Given the description of an element on the screen output the (x, y) to click on. 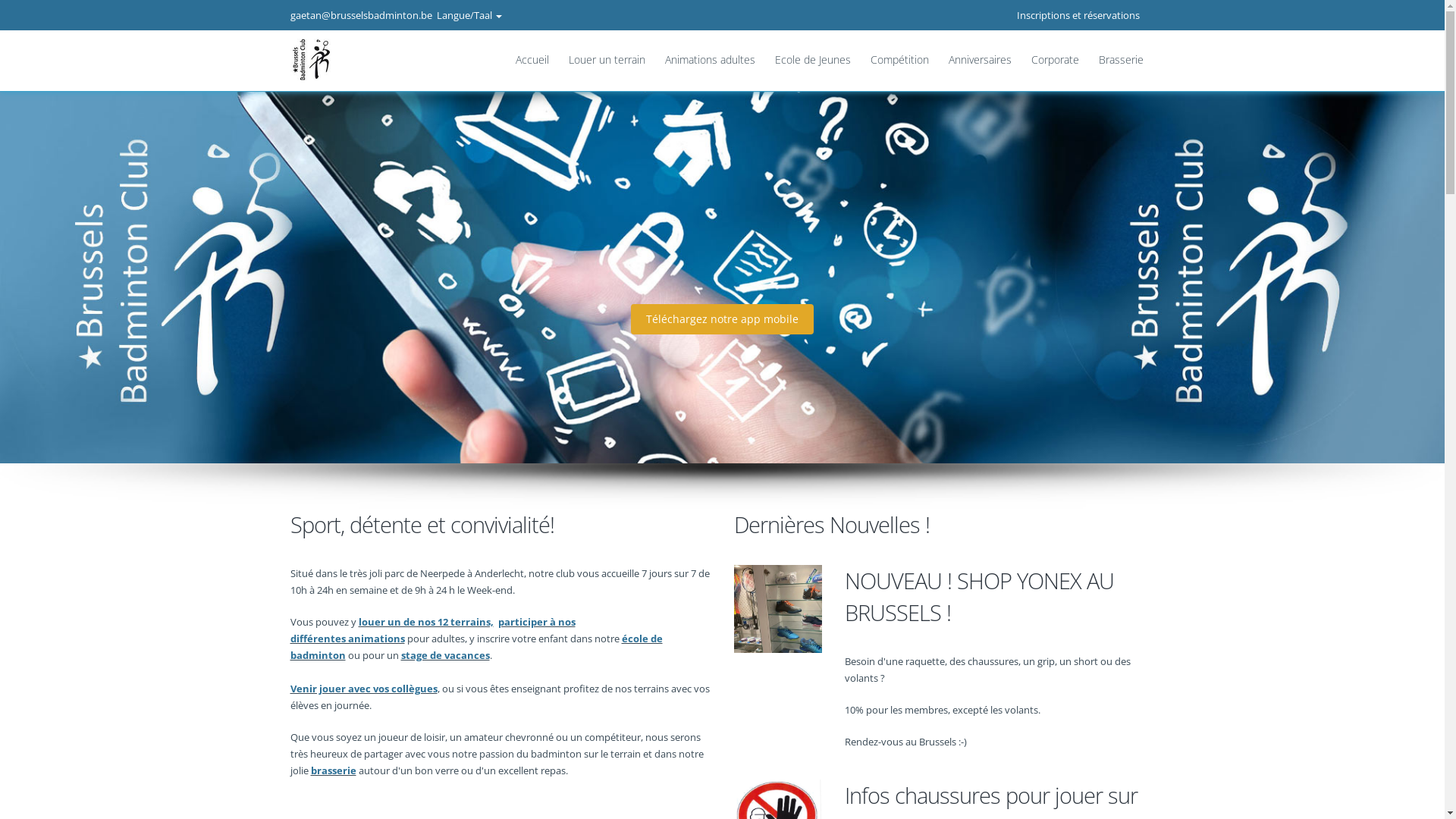
brasserie Element type: text (333, 770)
Corporate Element type: text (1054, 59)
louer un de nos 12 terrains, Element type: text (424, 621)
Anniversaires Element type: text (979, 59)
Brasserie Element type: text (1115, 59)
Accueil Element type: text (531, 59)
Animations adultes Element type: text (709, 59)
Langue/Taal Element type: text (469, 15)
Ecole de Jeunes Element type: text (811, 59)
Plus d'infos Element type: text (721, 319)
stage de vacances Element type: text (444, 655)
NOUVEAU ! SHOP YONEX AU BRUSSELS ! Element type: text (999, 596)
Louer un terrain Element type: text (605, 59)
